Given the description of an element on the screen output the (x, y) to click on. 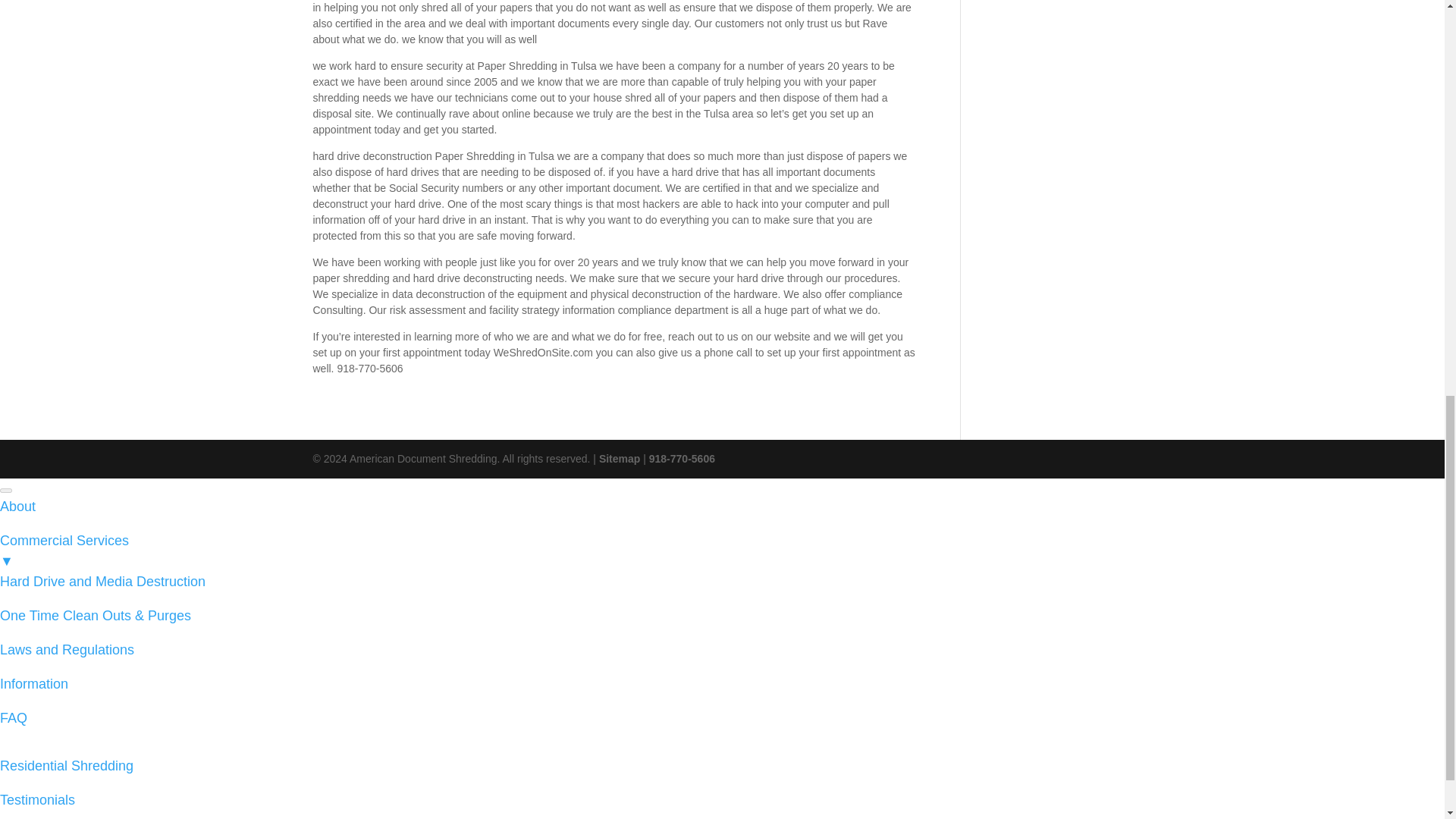
Testimonials (37, 799)
Residential Shredding (66, 765)
About (17, 506)
Hard Drive and Media Destruction (102, 581)
Laws and Regulations (66, 649)
Sitemap (619, 458)
FAQ (13, 717)
918-770-5606 (681, 458)
Information (34, 683)
